Given the description of an element on the screen output the (x, y) to click on. 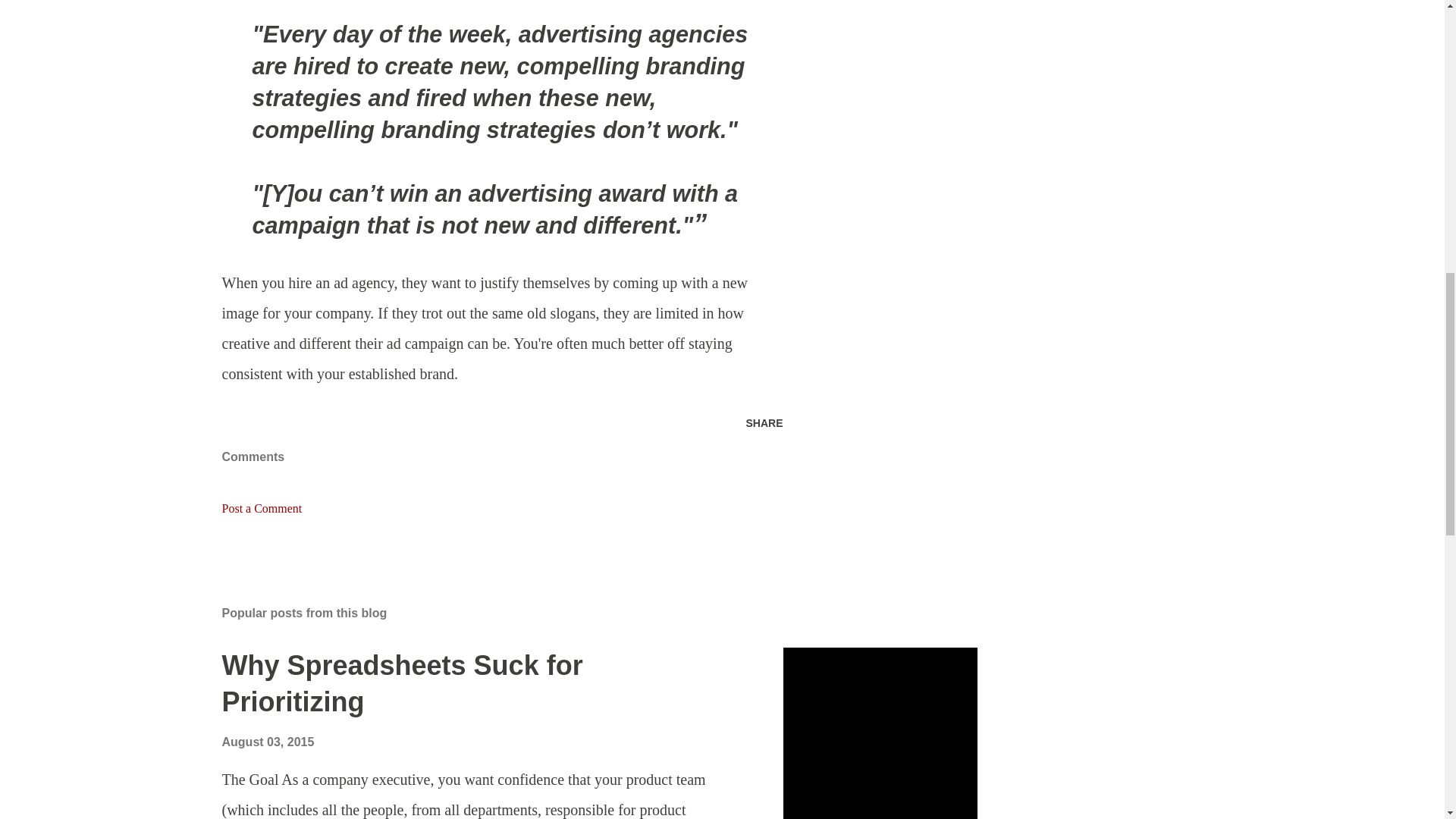
permanent link (267, 741)
Why Spreadsheets Suck for Prioritizing (401, 683)
Post a Comment (261, 508)
August 03, 2015 (267, 741)
SHARE (764, 422)
